Given the description of an element on the screen output the (x, y) to click on. 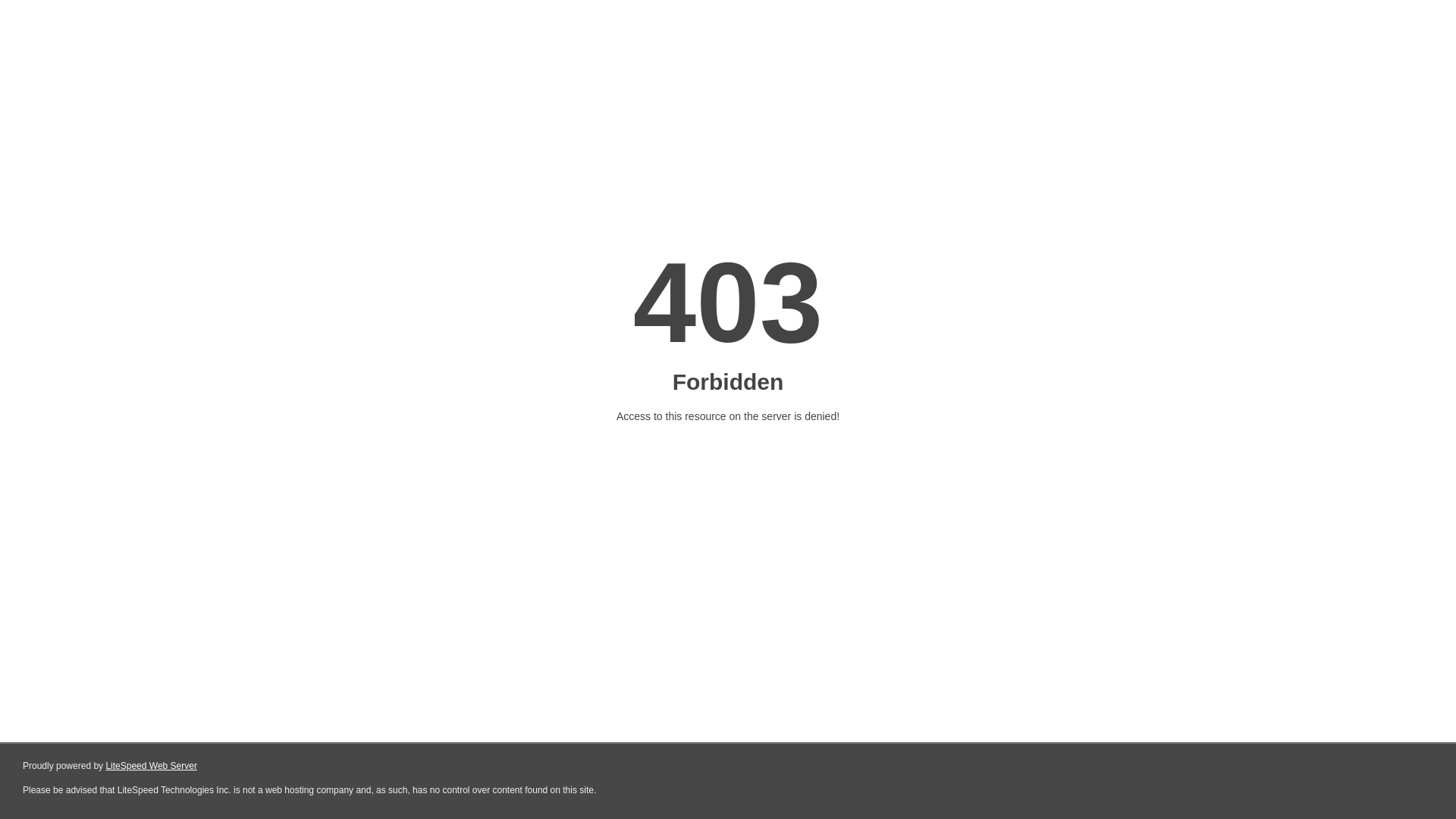
LiteSpeed Web Server Element type: text (151, 765)
